Given the description of an element on the screen output the (x, y) to click on. 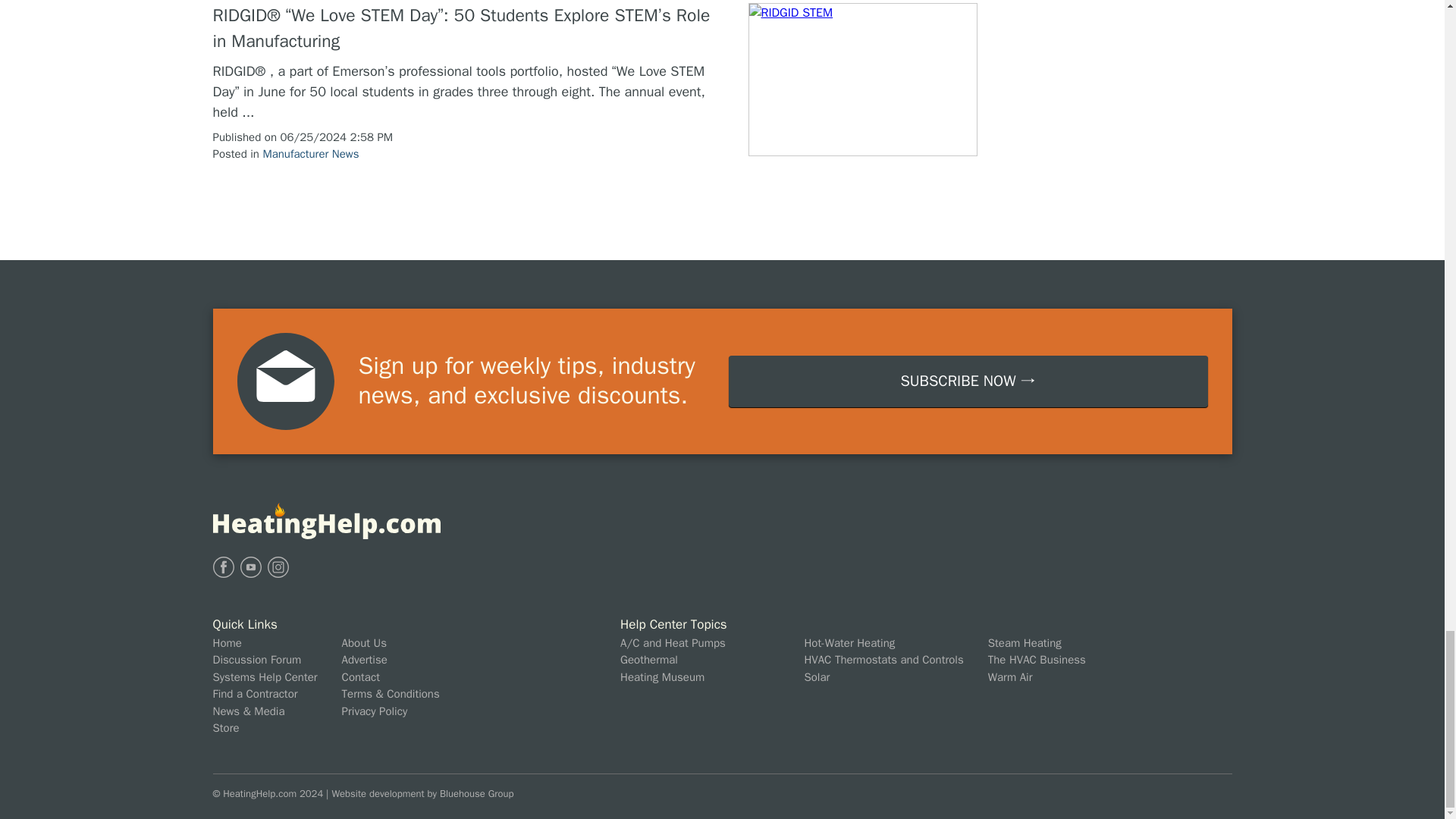
Manufacturer News (310, 153)
